Given the description of an element on the screen output the (x, y) to click on. 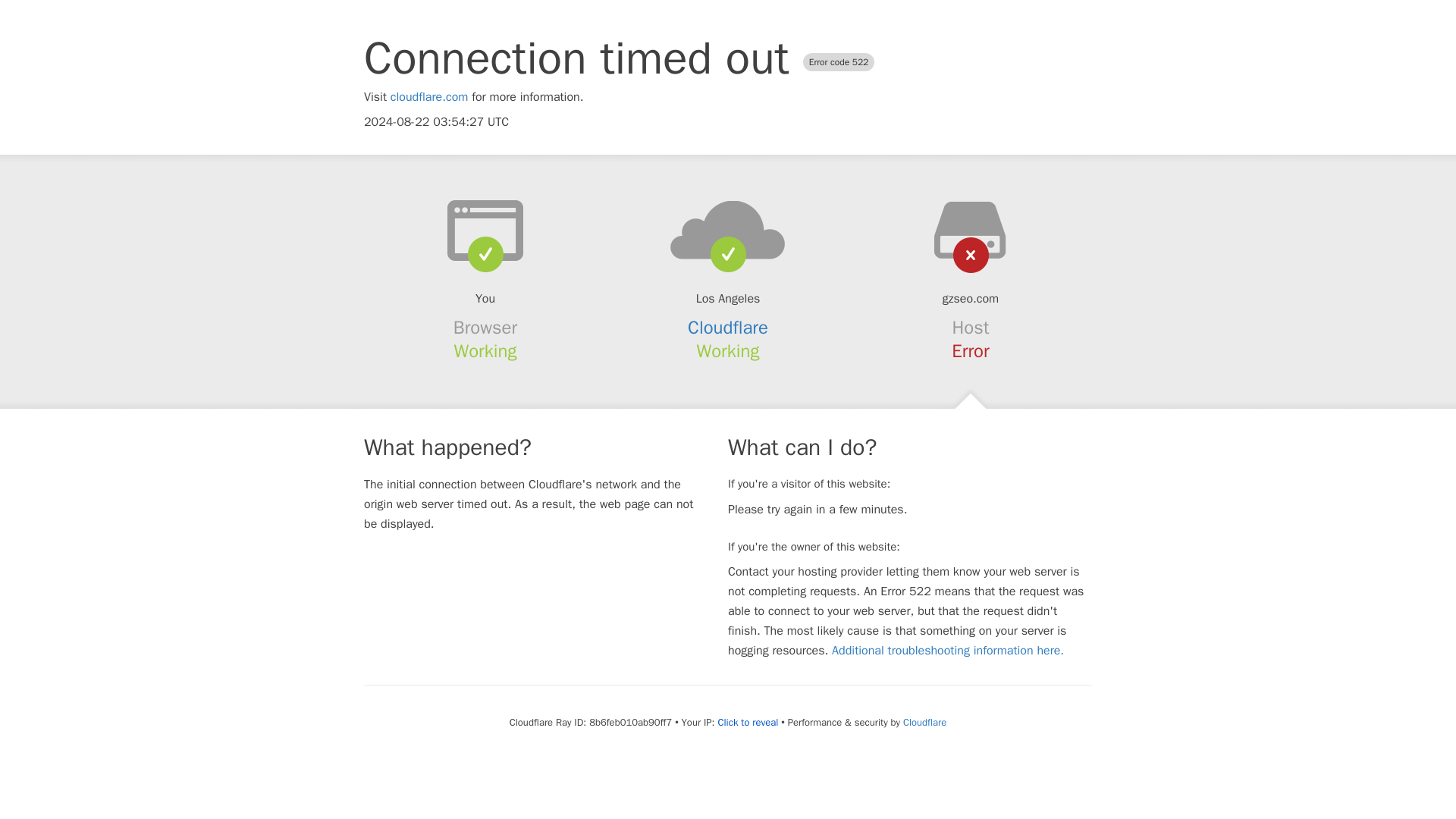
Additional troubleshooting information here. (947, 650)
cloudflare.com (429, 96)
Click to reveal (747, 722)
Cloudflare (924, 721)
Cloudflare (727, 327)
